Given the description of an element on the screen output the (x, y) to click on. 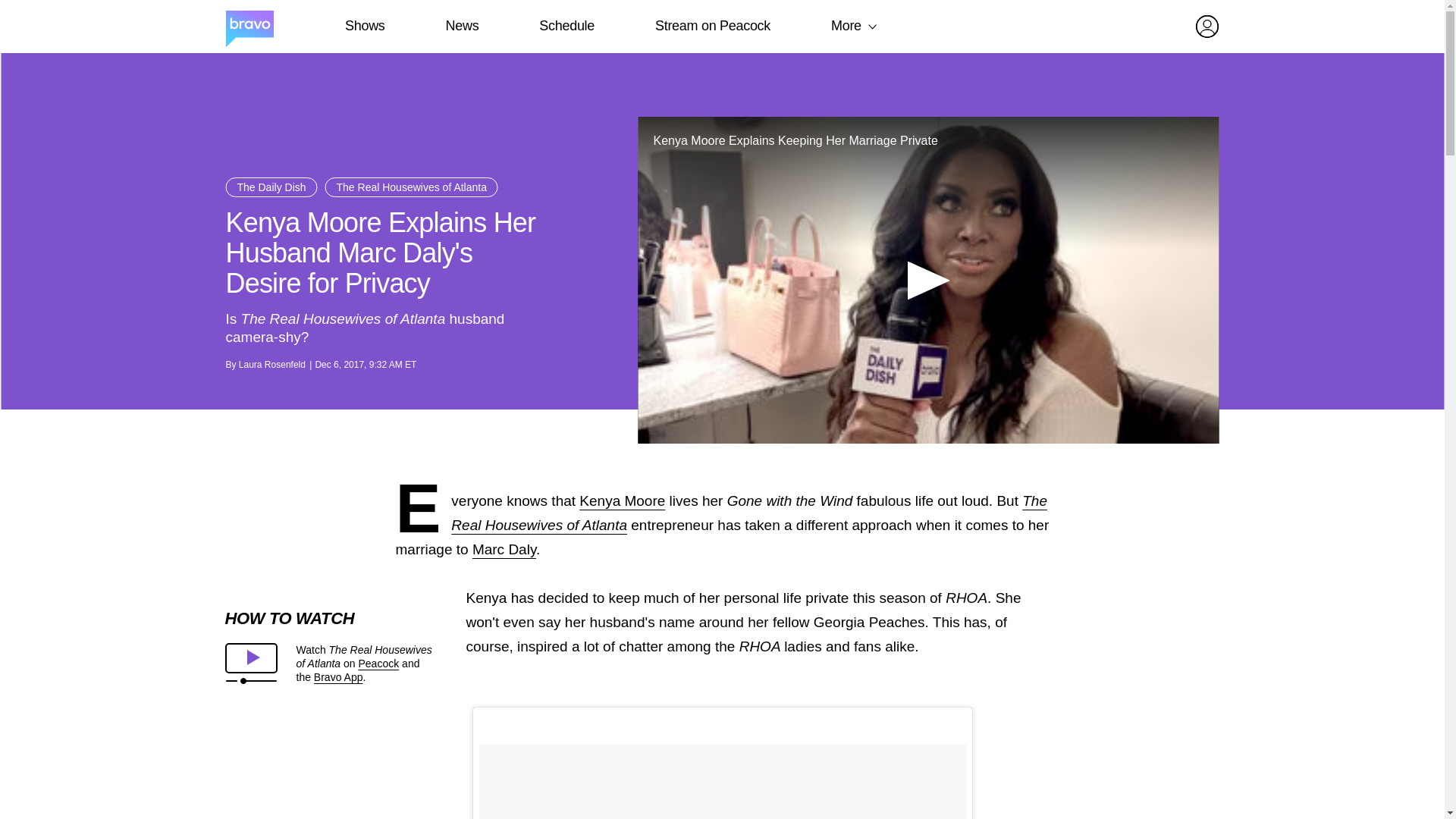
Shows (363, 26)
Peacock (378, 663)
Schedule (566, 26)
Marc Daly (503, 549)
The Real Housewives of Atlanta (748, 513)
More (846, 26)
Laura Rosenfeld (271, 364)
Bravo App (338, 676)
News (462, 26)
Stream on Peacock (712, 26)
Home (249, 26)
The Real Housewives of Atlanta (410, 187)
Kenya Moore (622, 500)
The Daily Dish (271, 187)
